Given the description of an element on the screen output the (x, y) to click on. 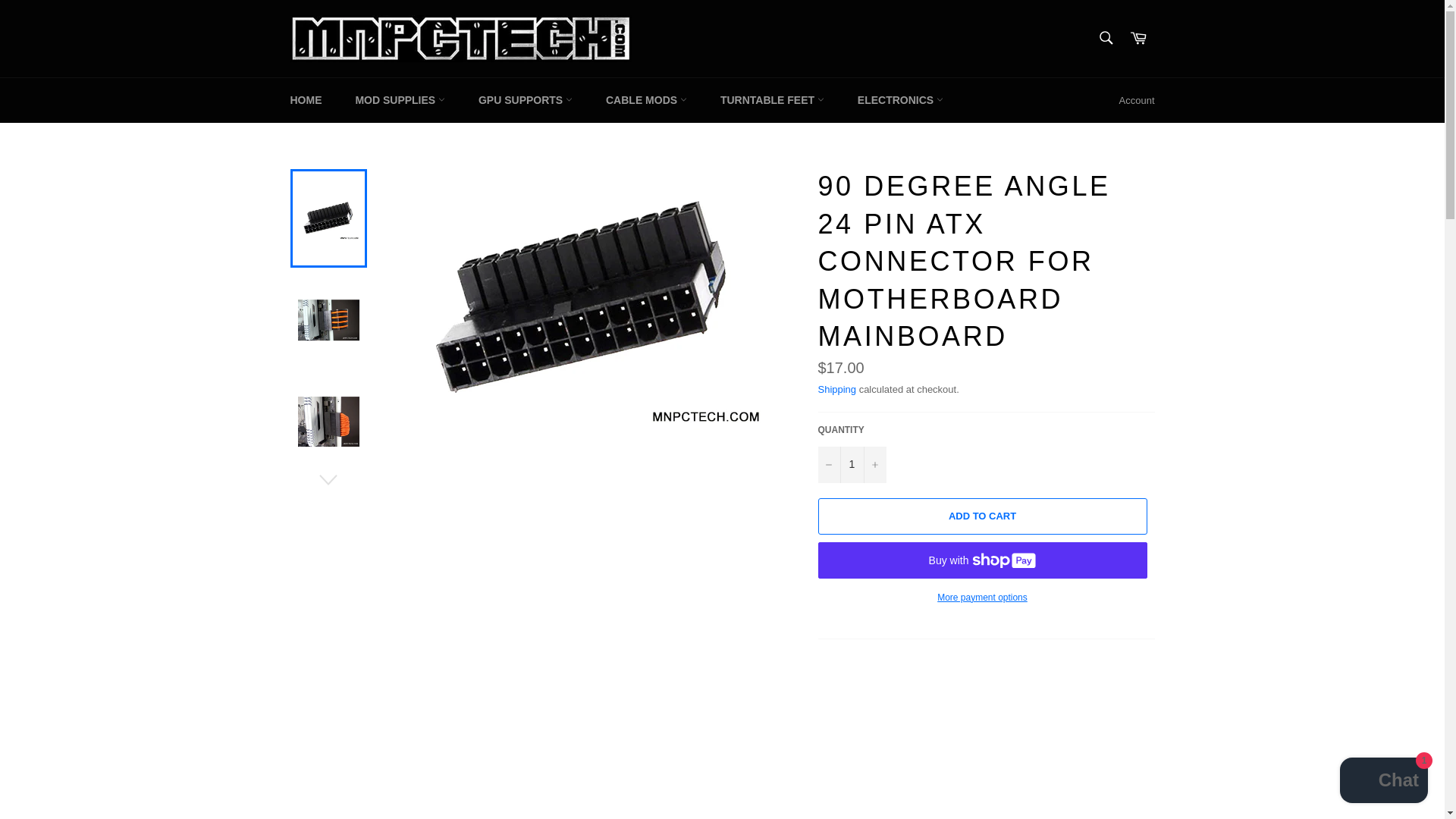
1 (850, 464)
Shopify online store chat (1383, 781)
